Given the description of an element on the screen output the (x, y) to click on. 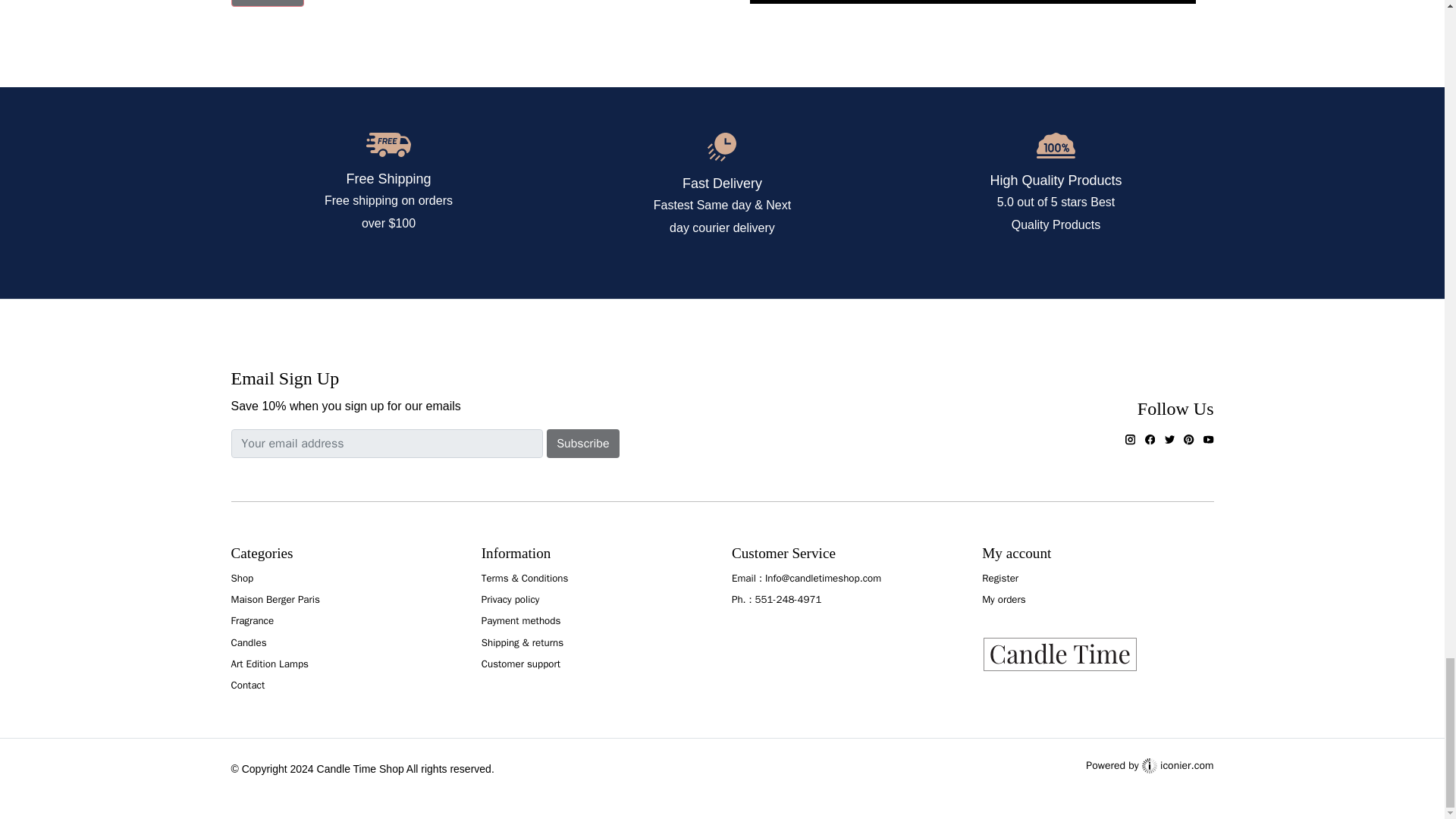
Privacy policy (510, 599)
Payment methods (520, 620)
